Given the description of an element on the screen output the (x, y) to click on. 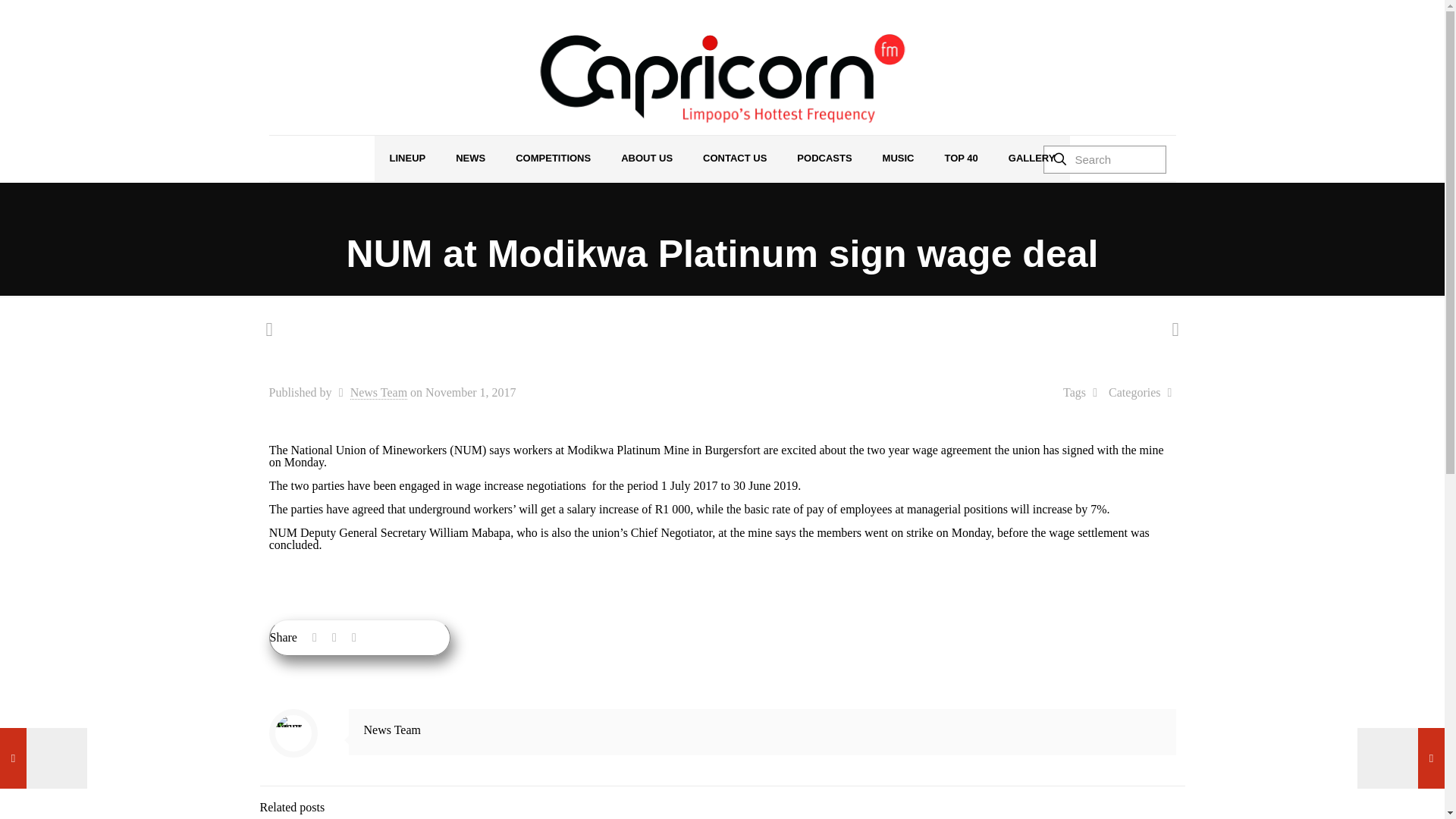
News Team (392, 729)
COMPETITIONS (552, 157)
TOP 40 (960, 157)
MUSIC (898, 157)
News Team (378, 392)
PODCASTS (823, 157)
GALLERY (1031, 157)
LINEUP (407, 157)
Capricorn FM (721, 78)
CONTACT US (734, 157)
NEWS (470, 157)
ABOUT US (646, 157)
